Given the description of an element on the screen output the (x, y) to click on. 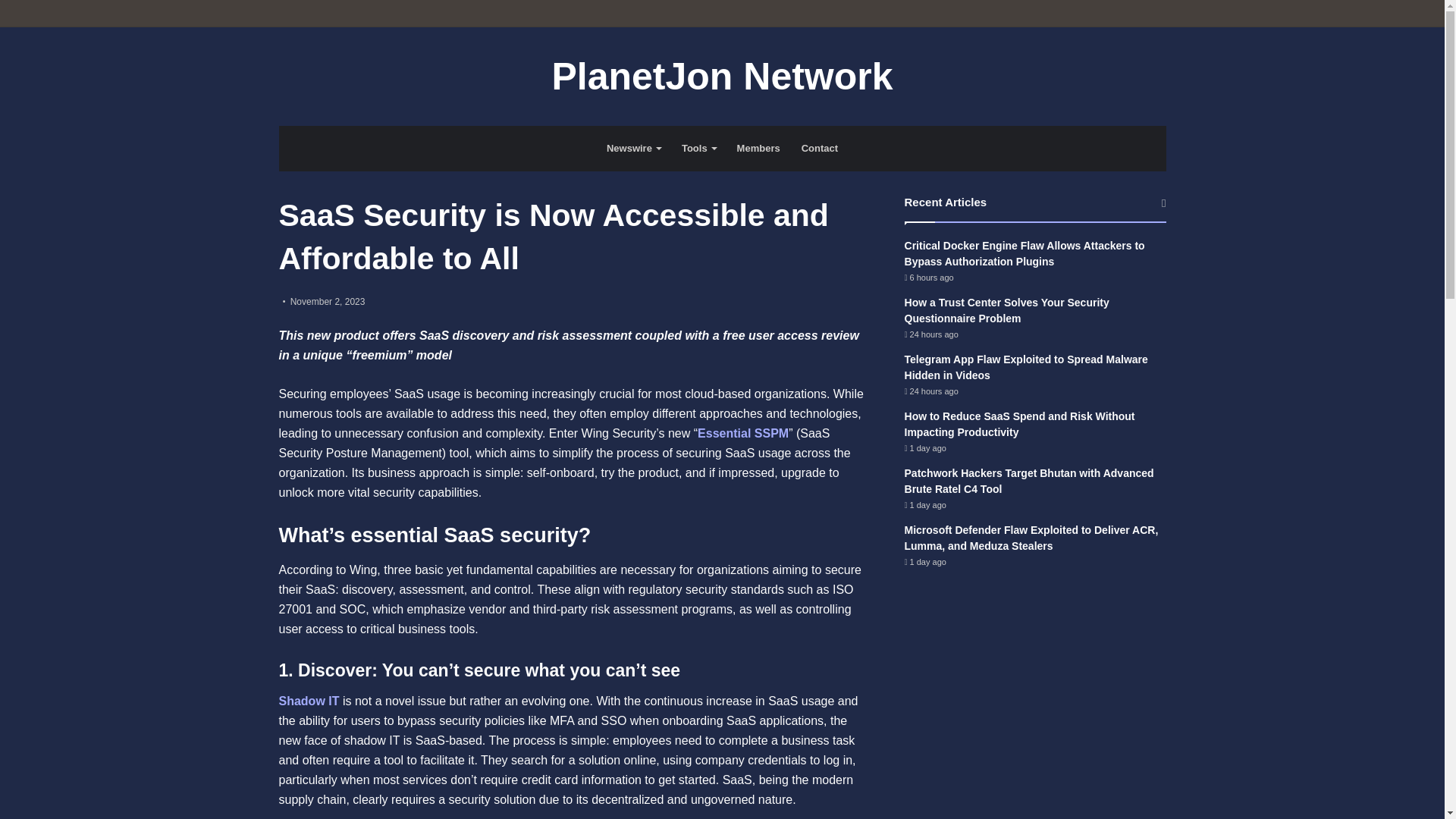
Contact (819, 148)
Members (758, 148)
PlanetJon Network (721, 76)
Newswire (633, 148)
PlanetJon Network (721, 76)
Essential SSPM (743, 432)
Tools (698, 148)
Shadow IT (309, 700)
